Given the description of an element on the screen output the (x, y) to click on. 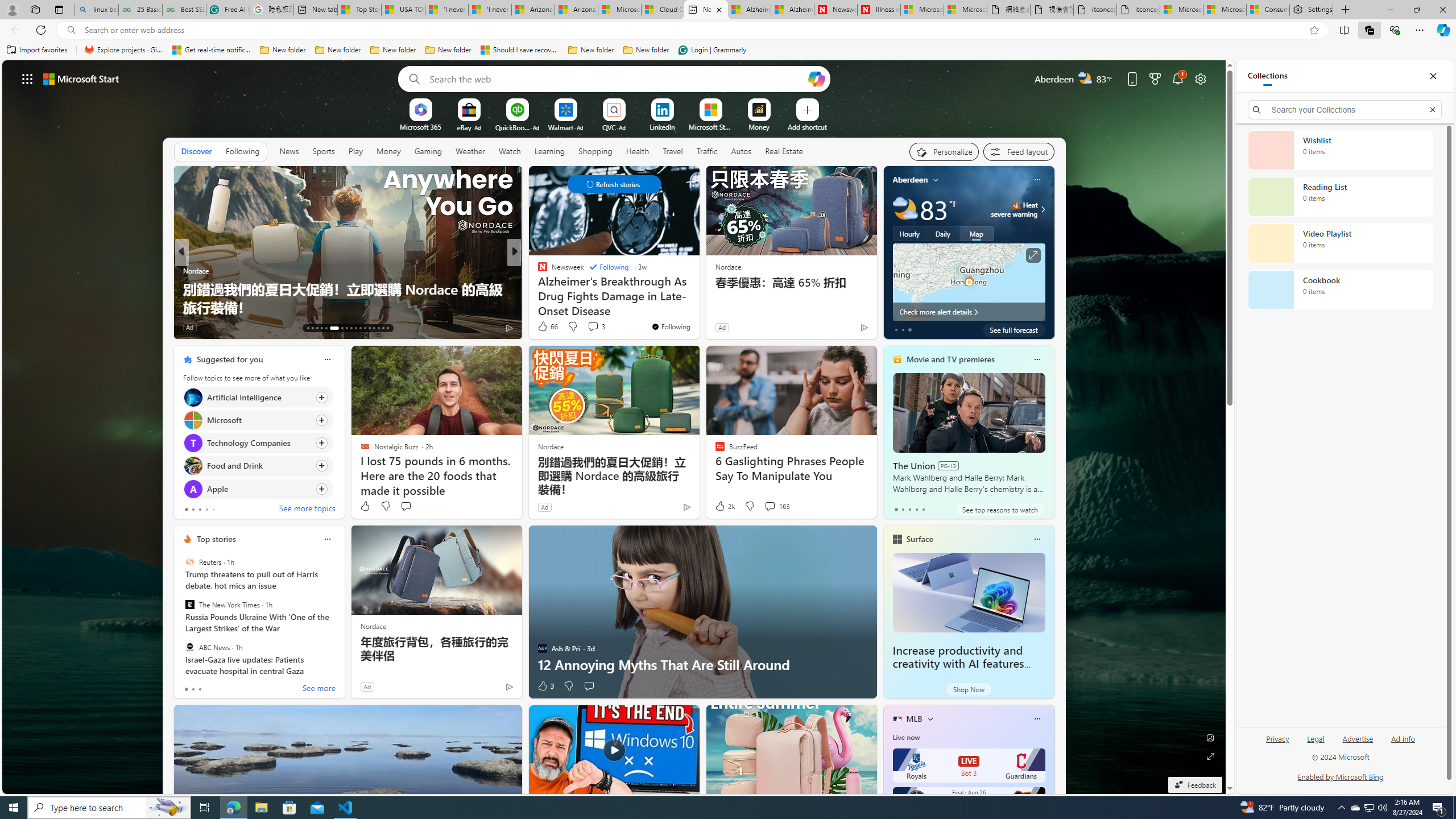
Personalize your feed" (943, 151)
Heat - Severe (1015, 204)
View comments 3 Comment (592, 326)
Top Stories - MSN (359, 9)
Exit search (1432, 109)
Learning (549, 151)
25 Basic Linux Commands For Beginners - GeeksforGeeks (140, 9)
New folder (646, 49)
See full forecast (1013, 329)
Like (364, 505)
Larger map  (968, 282)
AutomationID: tab-22 (355, 328)
